Given the description of an element on the screen output the (x, y) to click on. 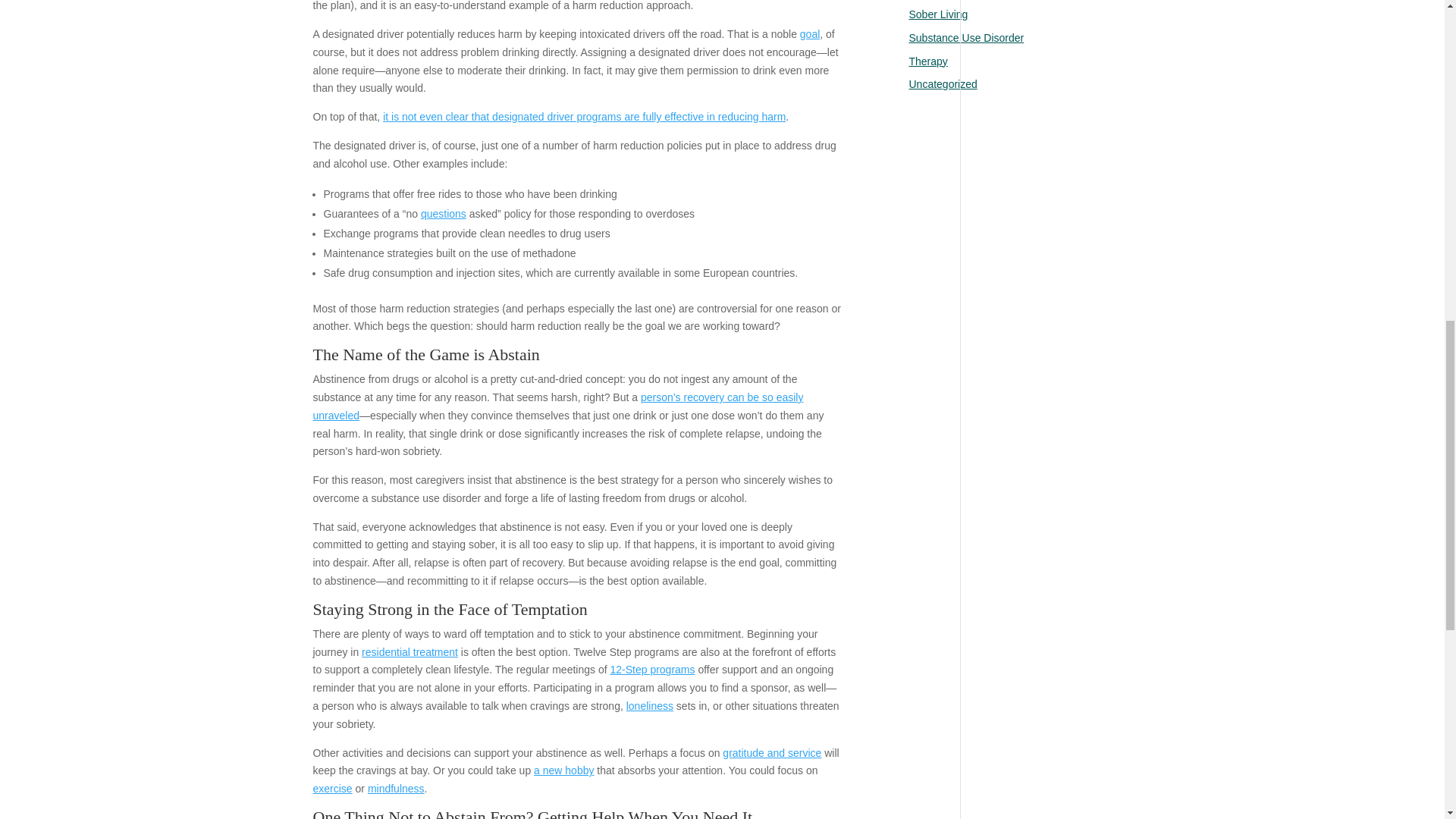
12-Step programs (652, 669)
questions (442, 214)
loneliness (649, 705)
exercise (332, 788)
residential treatment (409, 652)
a new hobby (564, 770)
goal (809, 33)
gratitude and service (771, 752)
